Given the description of an element on the screen output the (x, y) to click on. 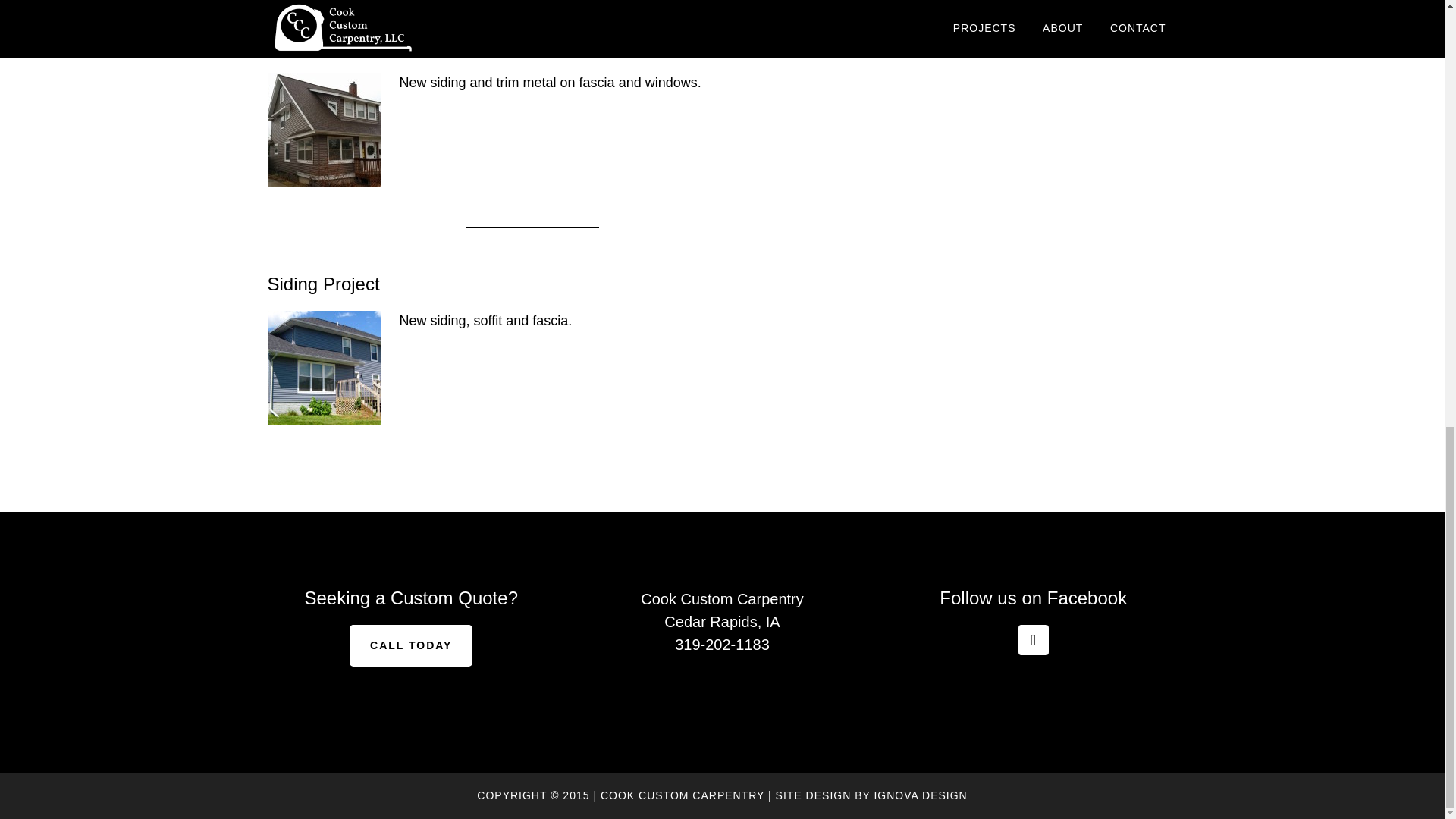
IgNova Design (919, 795)
CALL TODAY (410, 645)
IGNOVA DESIGN (919, 795)
319-202-1183 (722, 644)
Siding Project (322, 283)
